Given the description of an element on the screen output the (x, y) to click on. 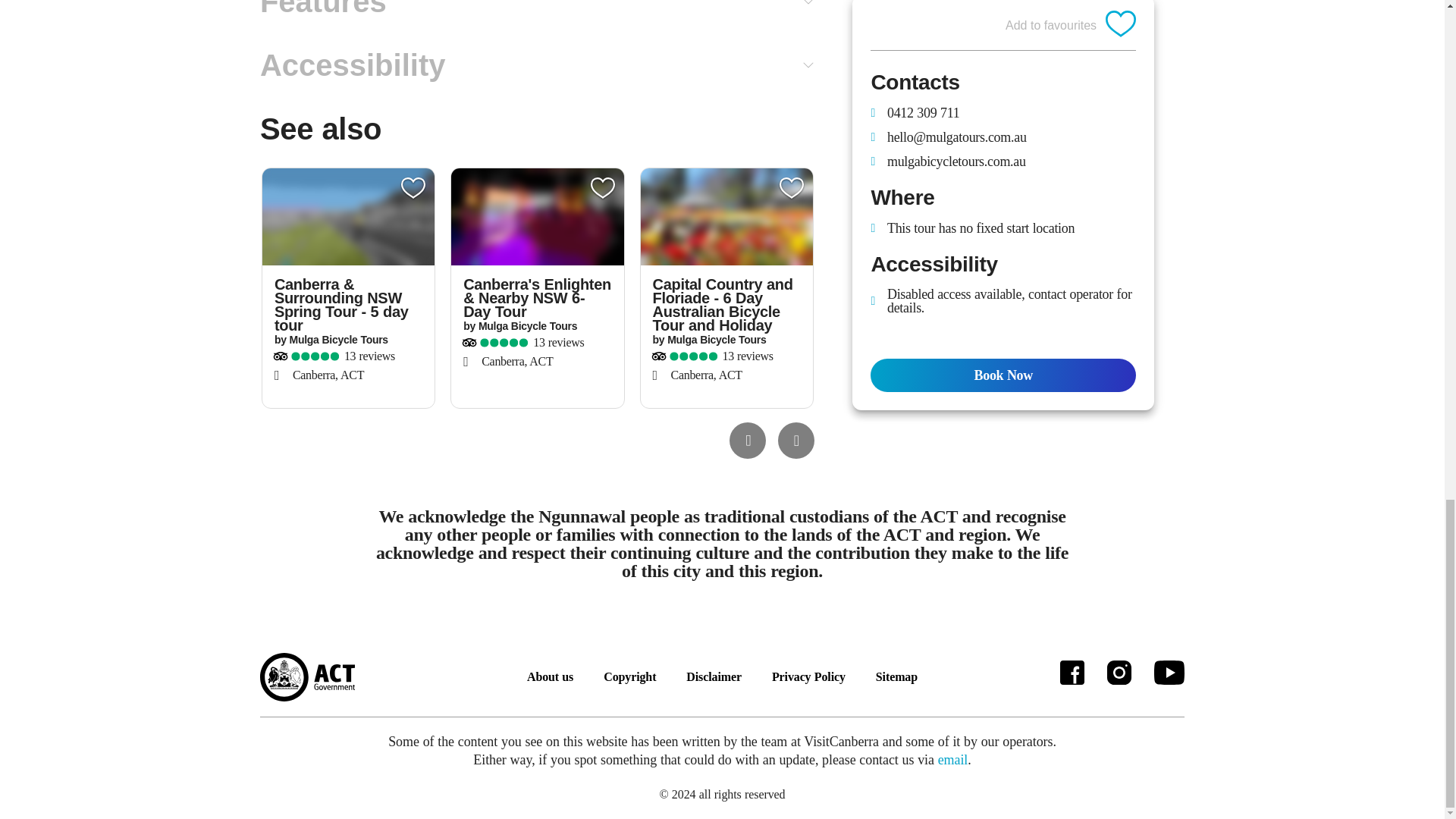
ACT Government website (307, 676)
Instagram (1118, 672)
Facebook (1071, 672)
